Given the description of an element on the screen output the (x, y) to click on. 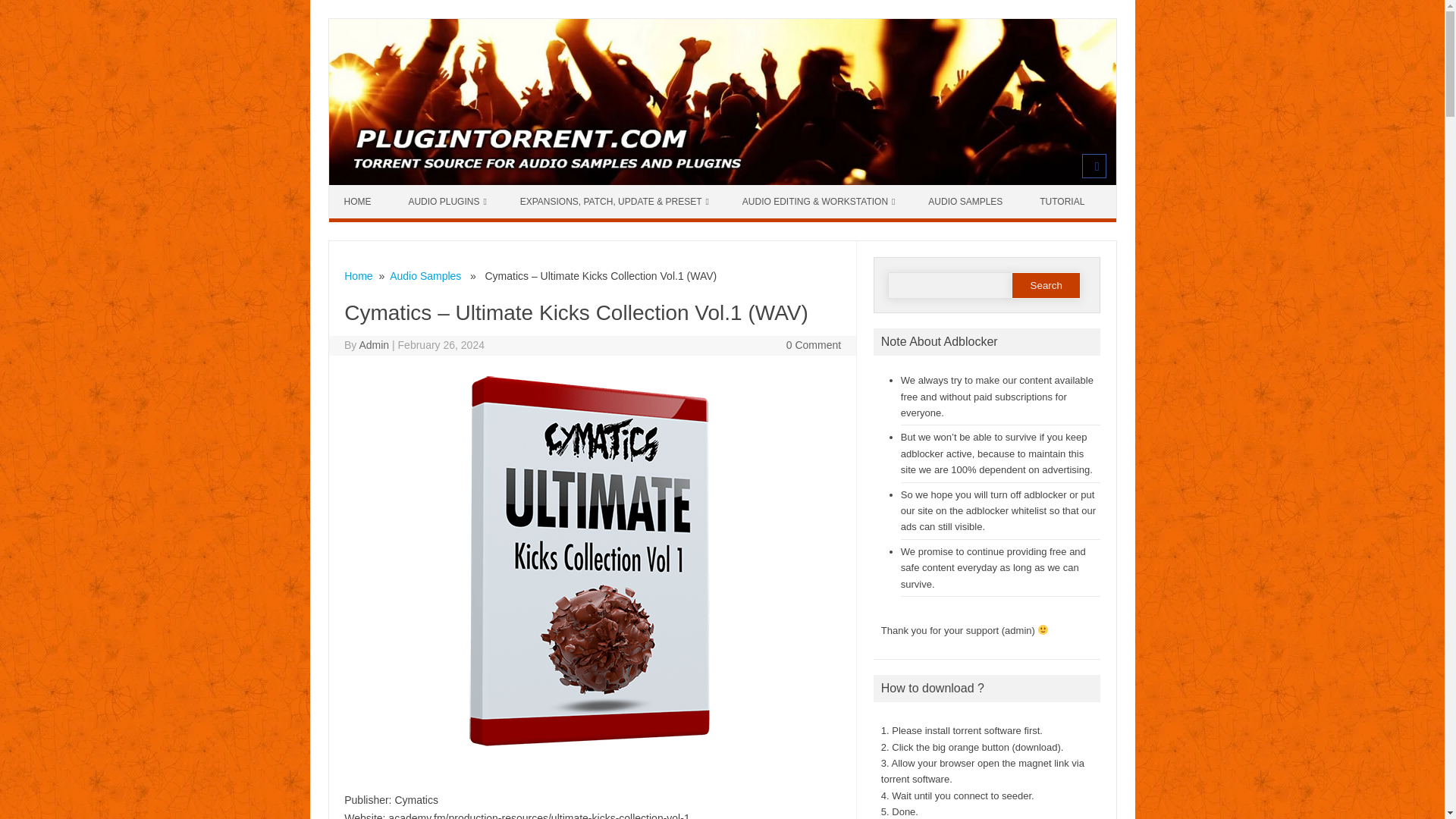
Audio Samples (425, 275)
AUDIO SAMPLES (967, 201)
HOME (359, 201)
0 Comment (813, 345)
Plugintorrent.com (722, 181)
Home (357, 275)
Posts by Admin (373, 345)
Skip to content (363, 190)
Admin (373, 345)
AUDIO PLUGINS (446, 201)
Skip to content (363, 190)
Search (1045, 284)
TUTORIAL (1064, 201)
